Given the description of an element on the screen output the (x, y) to click on. 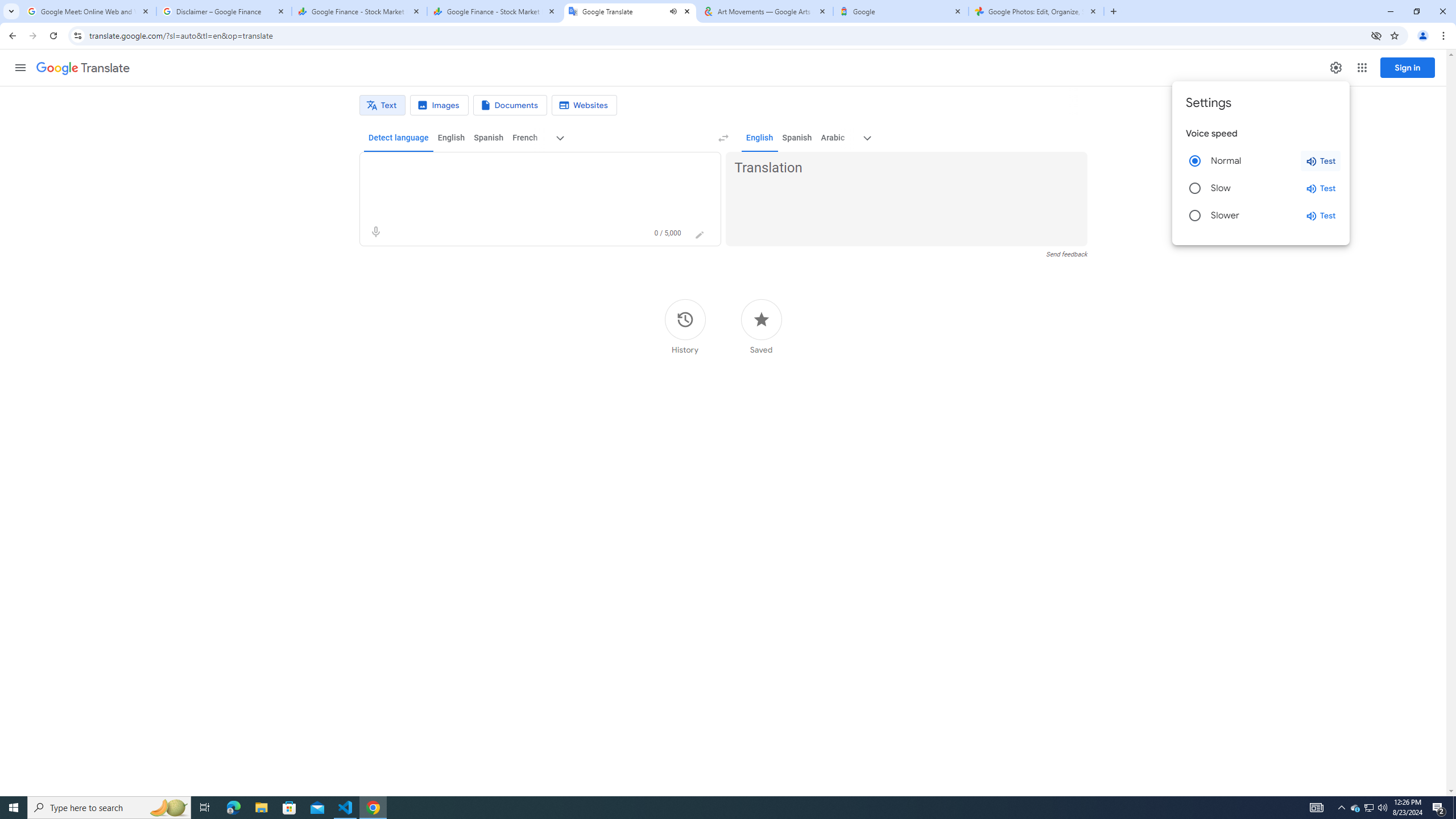
French (524, 137)
Slow (1194, 188)
Google Translate - Audio playing (630, 11)
Test slow speed (1320, 187)
Spanish (796, 137)
Saved (761, 326)
Test slower speed (1320, 215)
Google Translate (82, 68)
Translate by voice (375, 231)
Arabic (832, 137)
Website translation (584, 105)
